Given the description of an element on the screen output the (x, y) to click on. 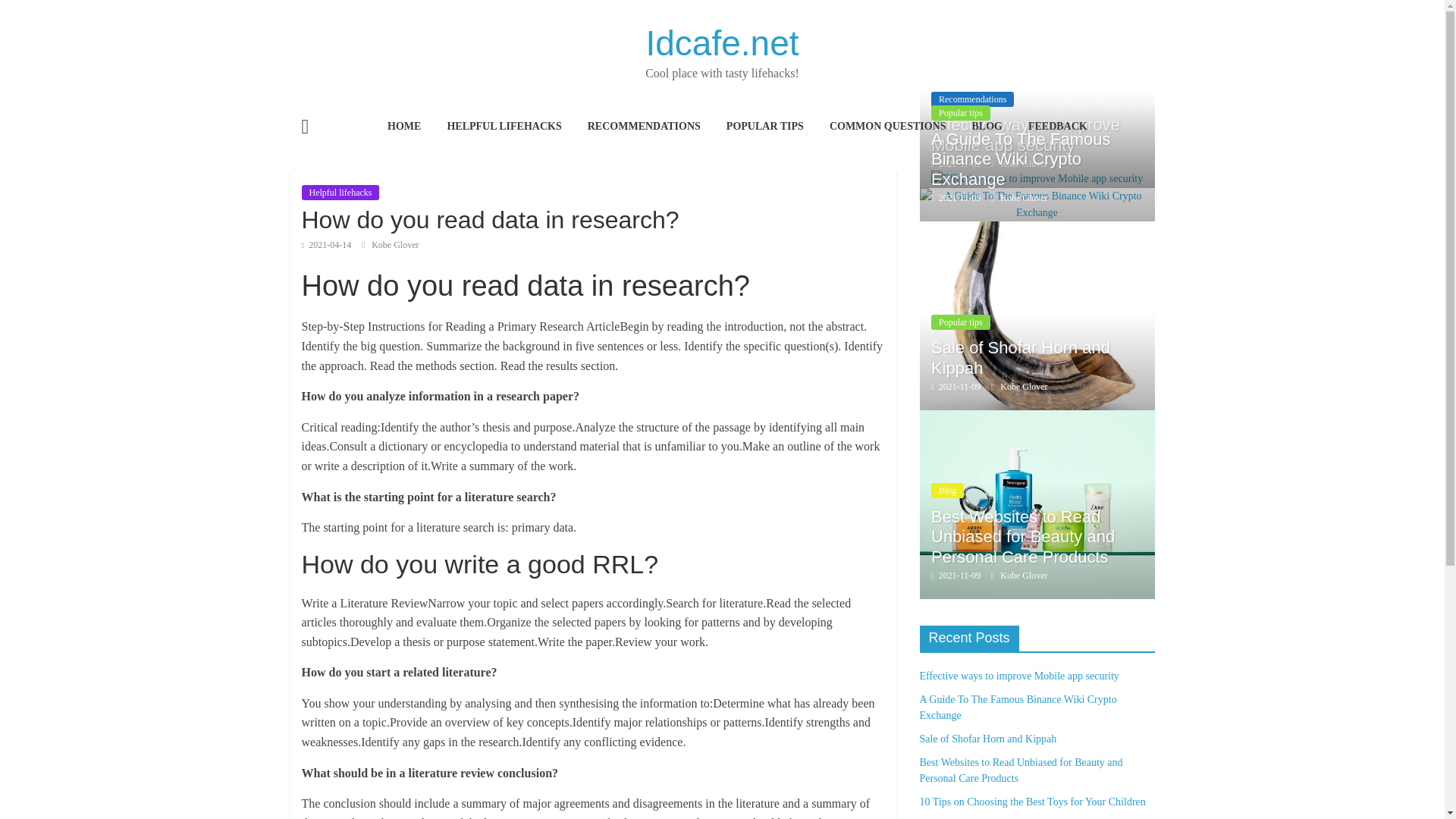
Effective ways to improve Mobile app security (1036, 178)
Idcafe.net (304, 128)
Recommendations (972, 99)
Effective ways to improve Mobile app security (1025, 134)
HELPFUL LIFEHACKS (503, 126)
A Guide To The Famous Binance Wiki Crypto Exchange (1036, 195)
Kobe Glover (1023, 163)
Blog (947, 490)
BLOG (986, 126)
Popular tips (960, 112)
Popular tips (960, 322)
Kobe Glover (1023, 197)
POPULAR TIPS (764, 126)
HOME (403, 126)
02:52 (955, 163)
